Given the description of an element on the screen output the (x, y) to click on. 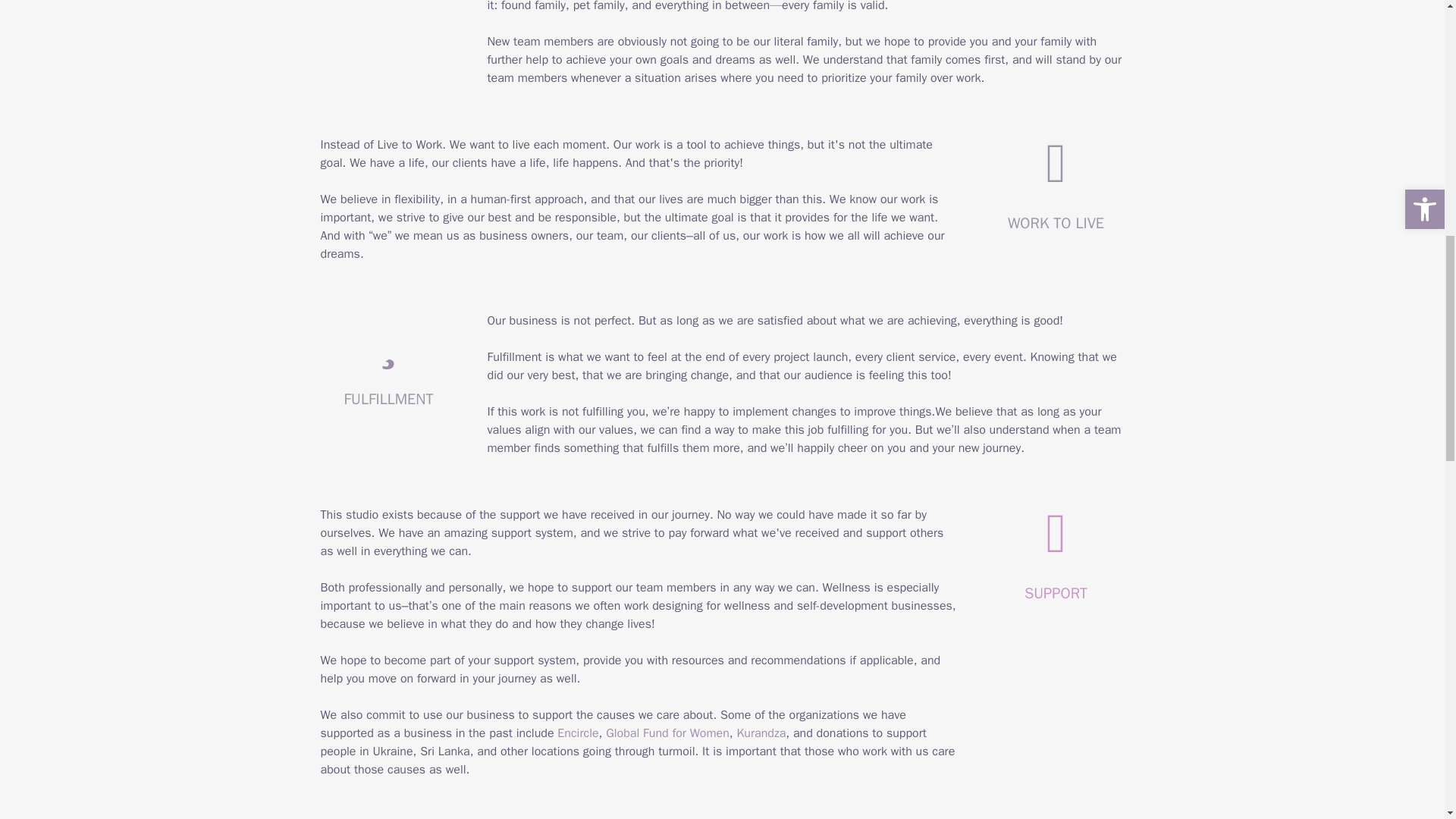
Scroll back to top (1406, 720)
Kurandza (761, 733)
Global Fund for Women (667, 733)
Encircle (577, 733)
